Given the description of an element on the screen output the (x, y) to click on. 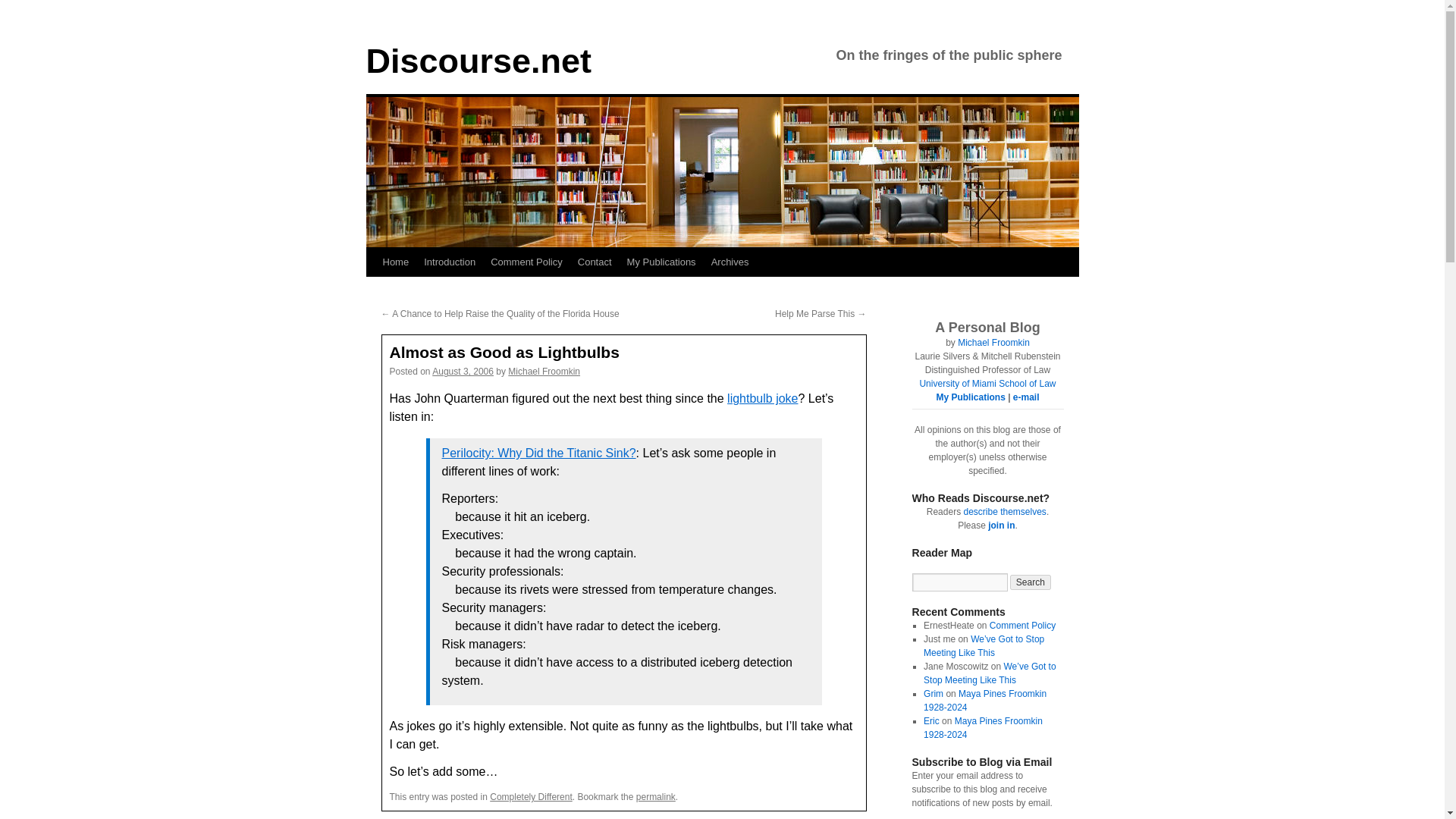
Introduction (449, 262)
Search (1030, 581)
join in (1001, 525)
Completely Different (530, 796)
Michael Froomkin (993, 342)
Comment Policy (1022, 624)
instructions on how to deduce my email (1026, 397)
e-mail (1026, 397)
Comment Policy (526, 262)
Perilocity: Why Did the Titanic Sink? (537, 452)
Search (1030, 581)
9:55 am (462, 371)
Discourse.net (478, 60)
August 3, 2006 (462, 371)
Perilocity: Why Did the Titanic Sink? (537, 452)
